Given the description of an element on the screen output the (x, y) to click on. 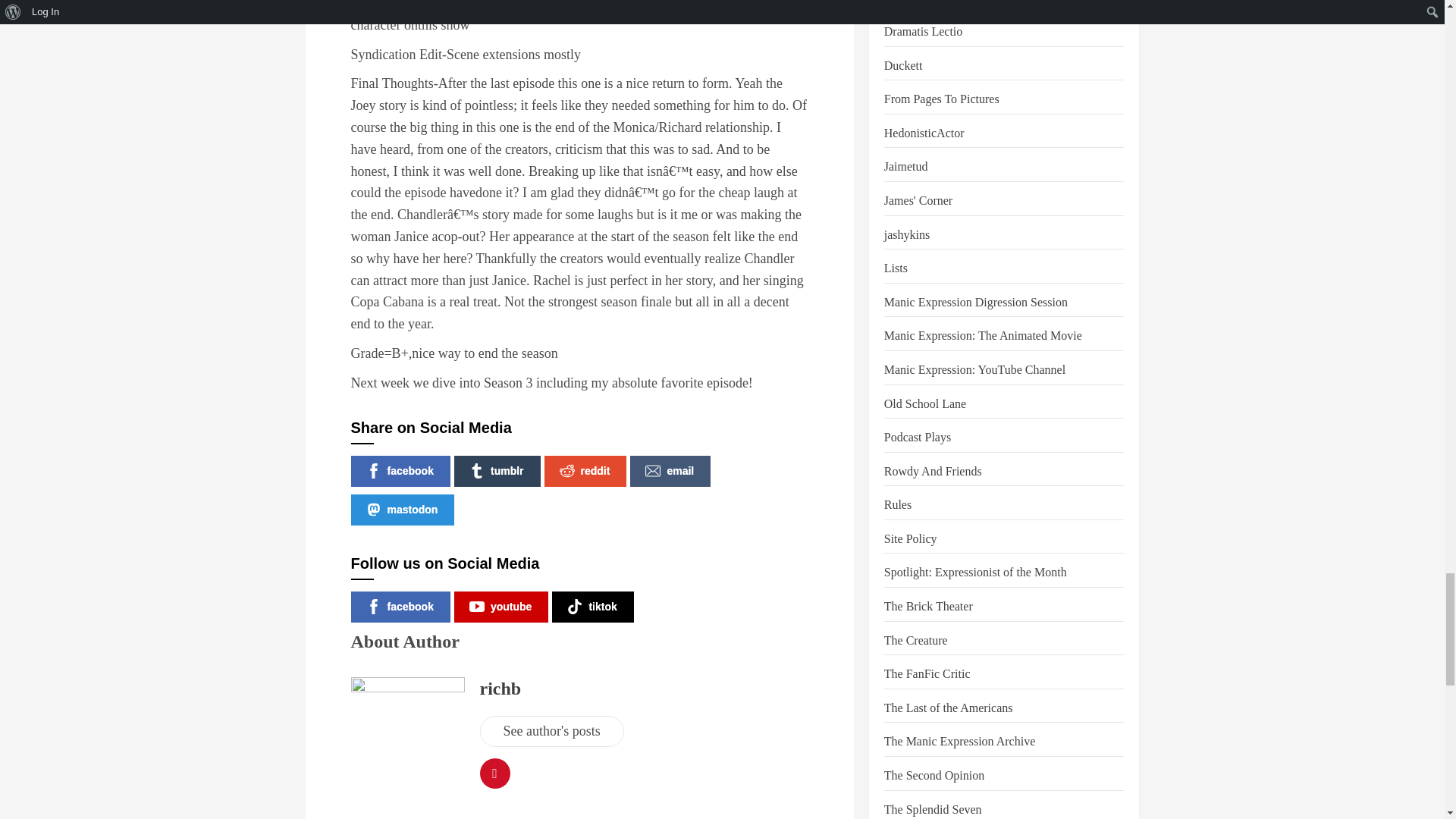
facebook (399, 470)
tumblr (497, 470)
reddit (585, 470)
mastodon (402, 509)
email (670, 470)
